Given the description of an element on the screen output the (x, y) to click on. 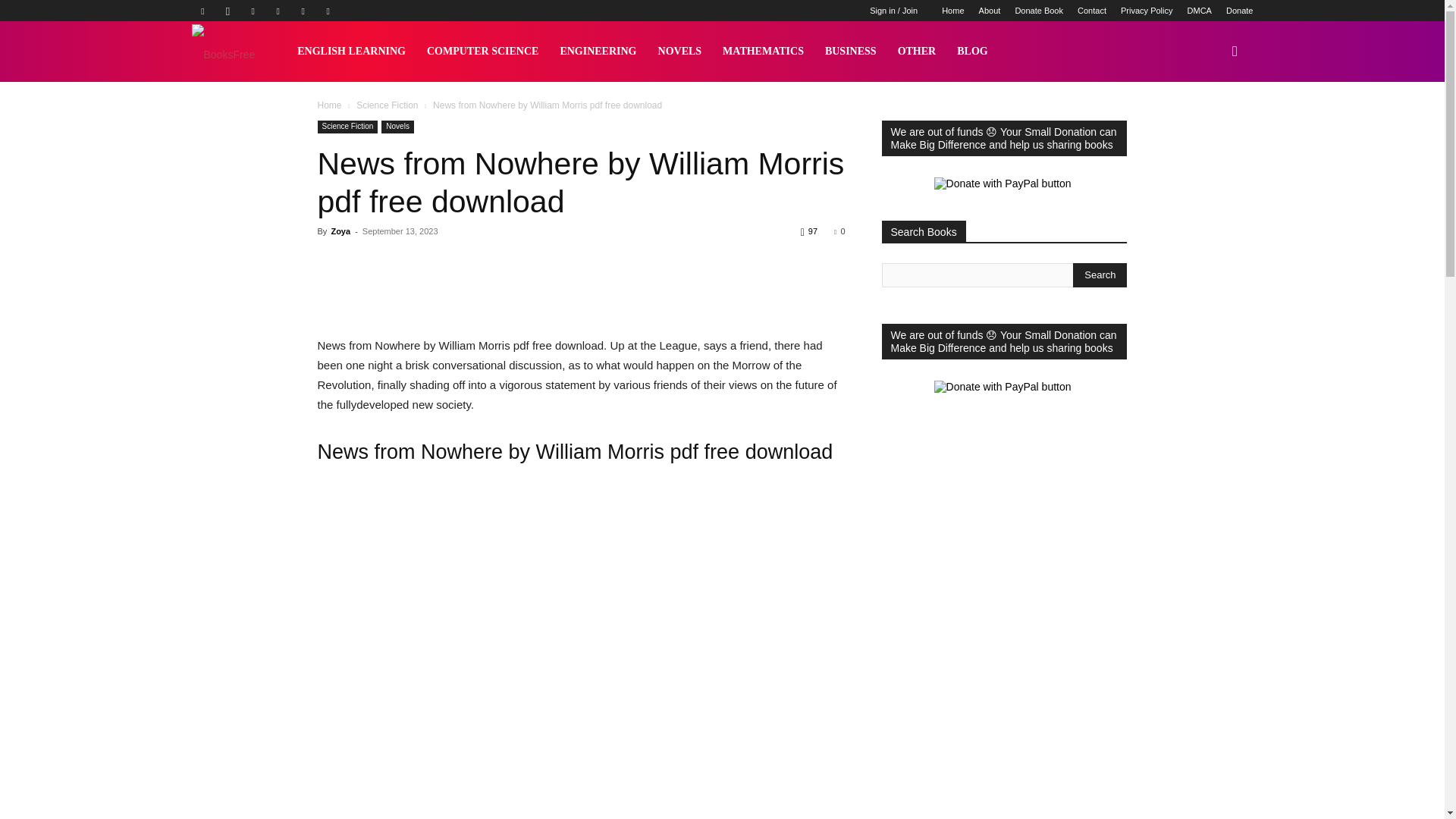
Youtube (328, 10)
Pinterest (277, 10)
Instagram (228, 10)
Twitter (303, 10)
Paypal (252, 10)
Search (1099, 274)
Facebook (202, 10)
